Given the description of an element on the screen output the (x, y) to click on. 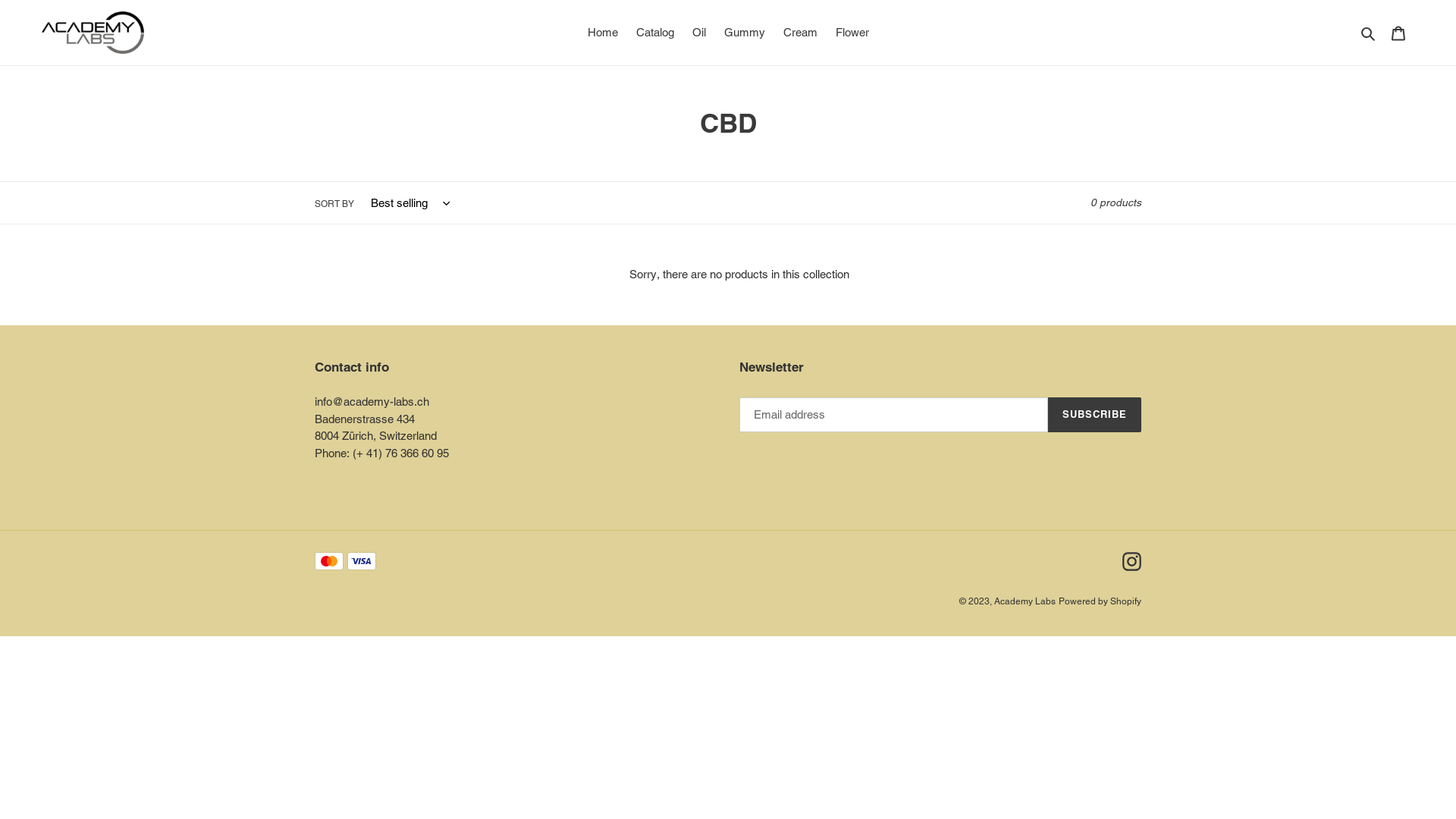
Powered by Shopify Element type: text (1099, 601)
Cream Element type: text (799, 32)
Instagram Element type: text (1131, 561)
SUBSCRIBE Element type: text (1094, 414)
Cart Element type: text (1398, 32)
Flower Element type: text (852, 32)
Academy Labs Element type: text (1024, 601)
Search Element type: text (1368, 32)
Home Element type: text (601, 32)
Catalog Element type: text (653, 32)
Oil Element type: text (698, 32)
Gummy Element type: text (743, 32)
